Given the description of an element on the screen output the (x, y) to click on. 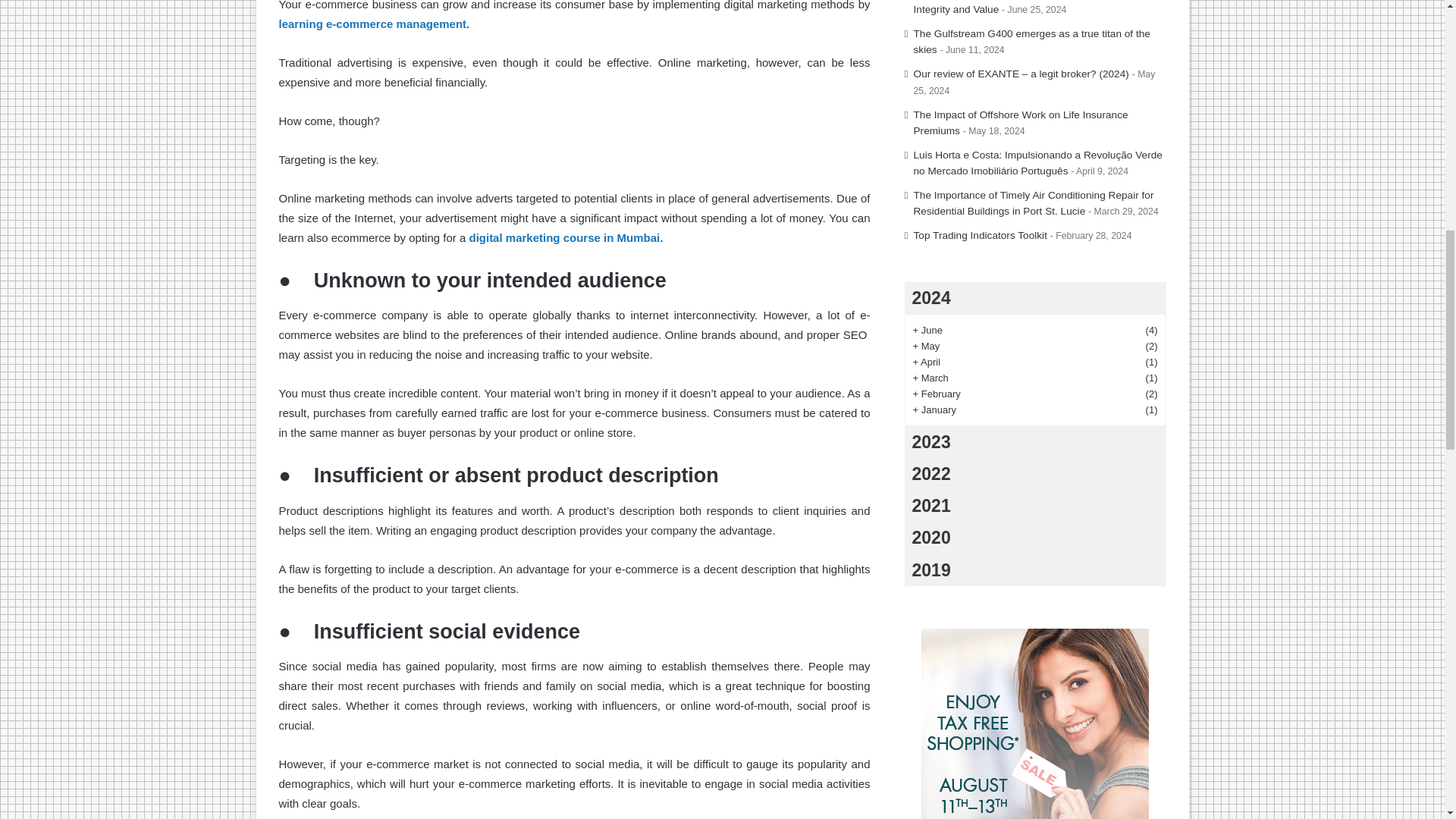
digital marketing course in Mumbai. (565, 237)
learning e-commerce management. (374, 23)
